Given the description of an element on the screen output the (x, y) to click on. 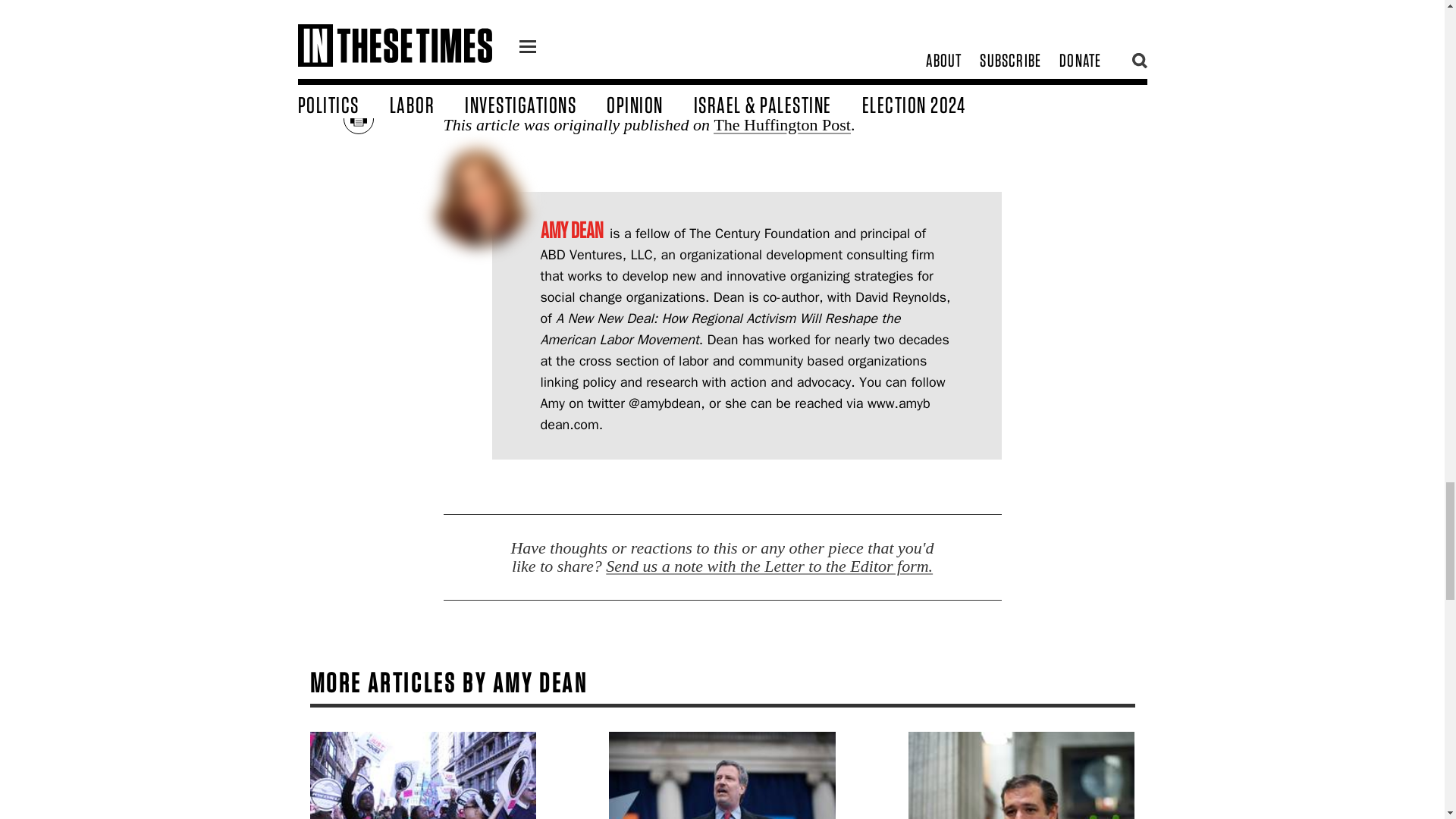
The Huffington Post (781, 124)
